Given the description of an element on the screen output the (x, y) to click on. 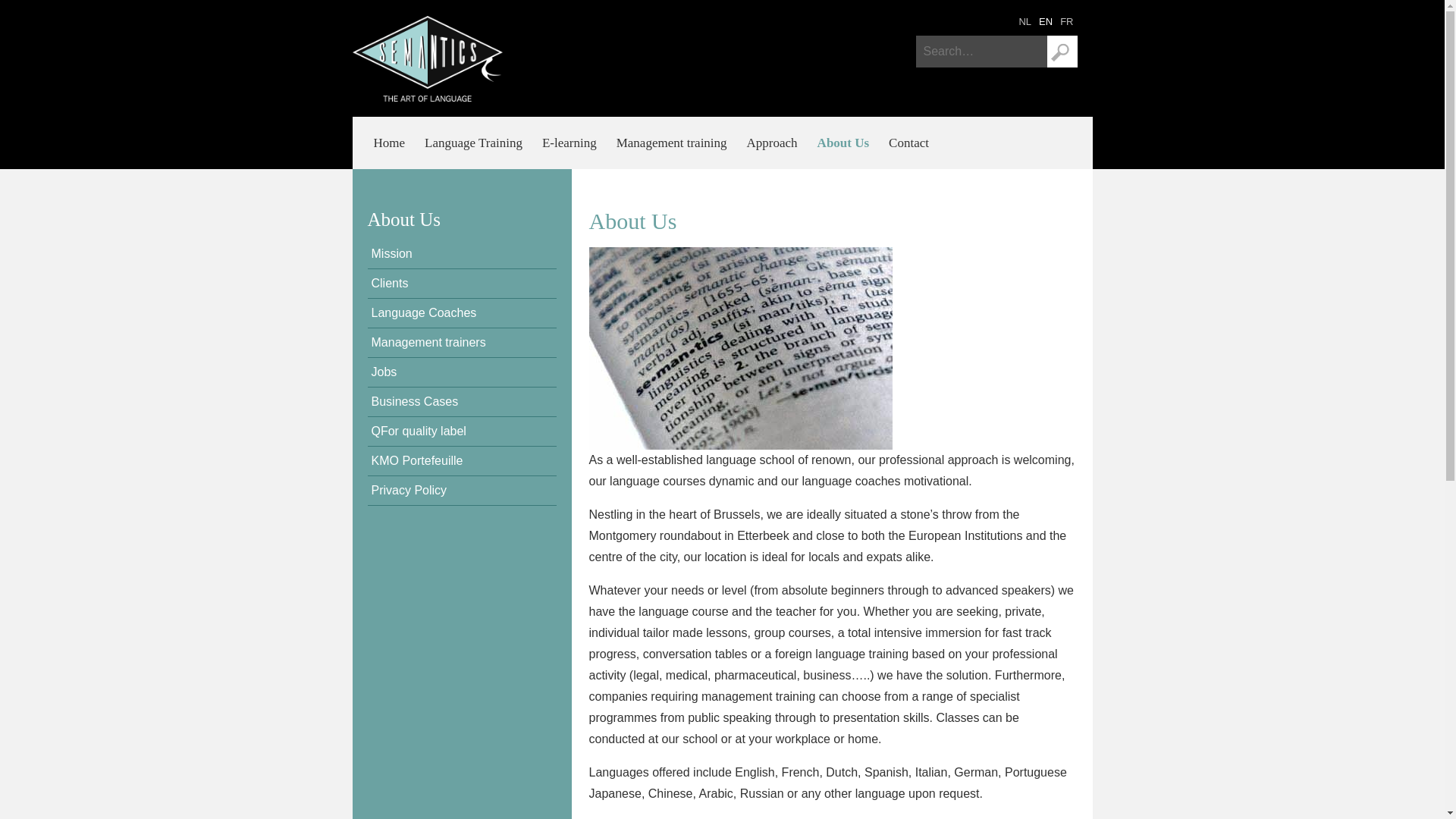
Language Trainings (473, 142)
Search (1061, 51)
About Semantics (1046, 21)
FR (1067, 21)
EN (1046, 21)
Search (1061, 51)
Clients (461, 283)
Over Semantics (1024, 21)
Semantics (427, 58)
Semantics (1067, 21)
